Given the description of an element on the screen output the (x, y) to click on. 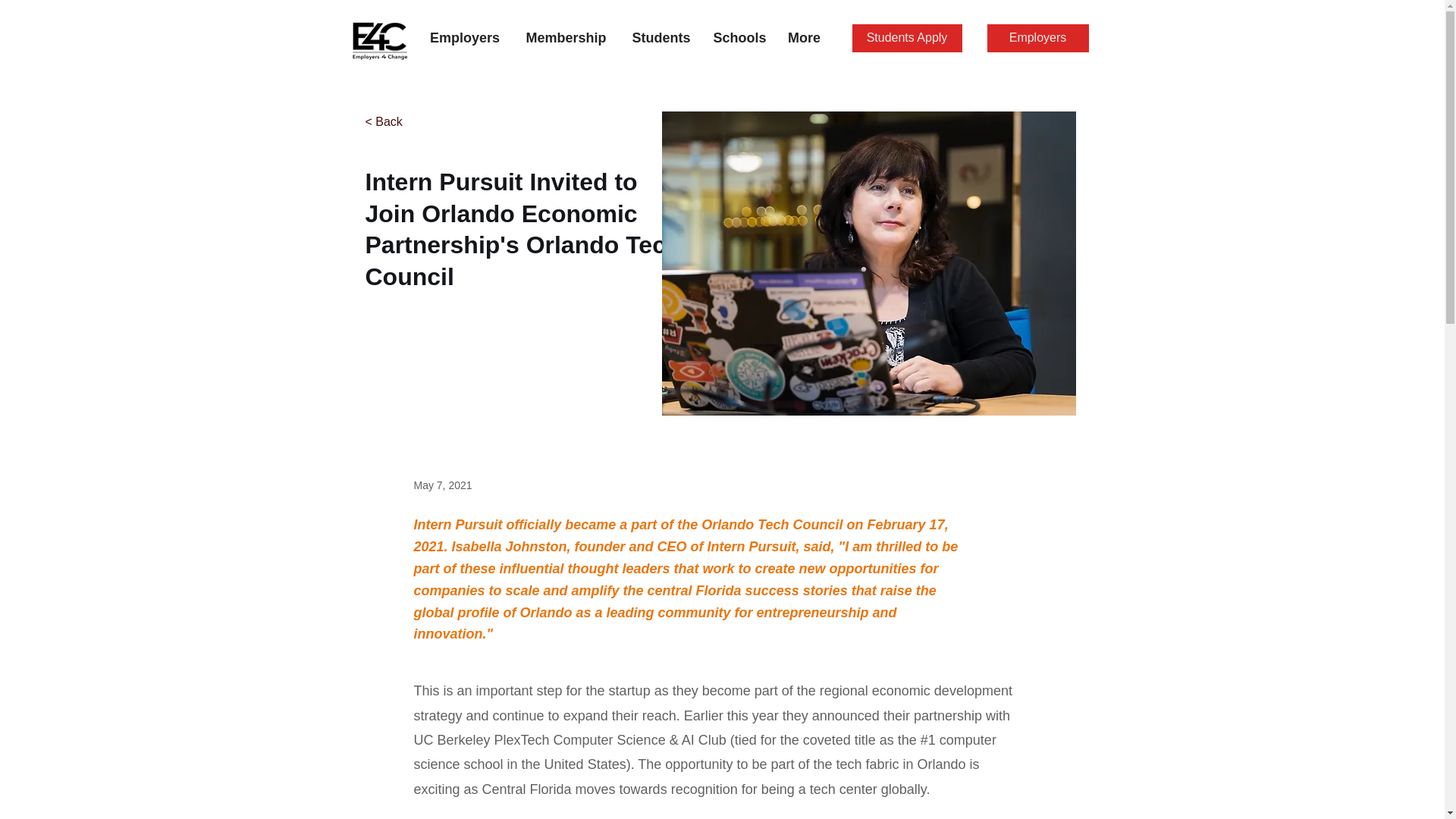
Students Apply (906, 38)
Membership (566, 37)
DSC08465.jpg (868, 263)
Students (661, 37)
Employers (1038, 38)
Employers (464, 37)
Schools (738, 37)
